Given the description of an element on the screen output the (x, y) to click on. 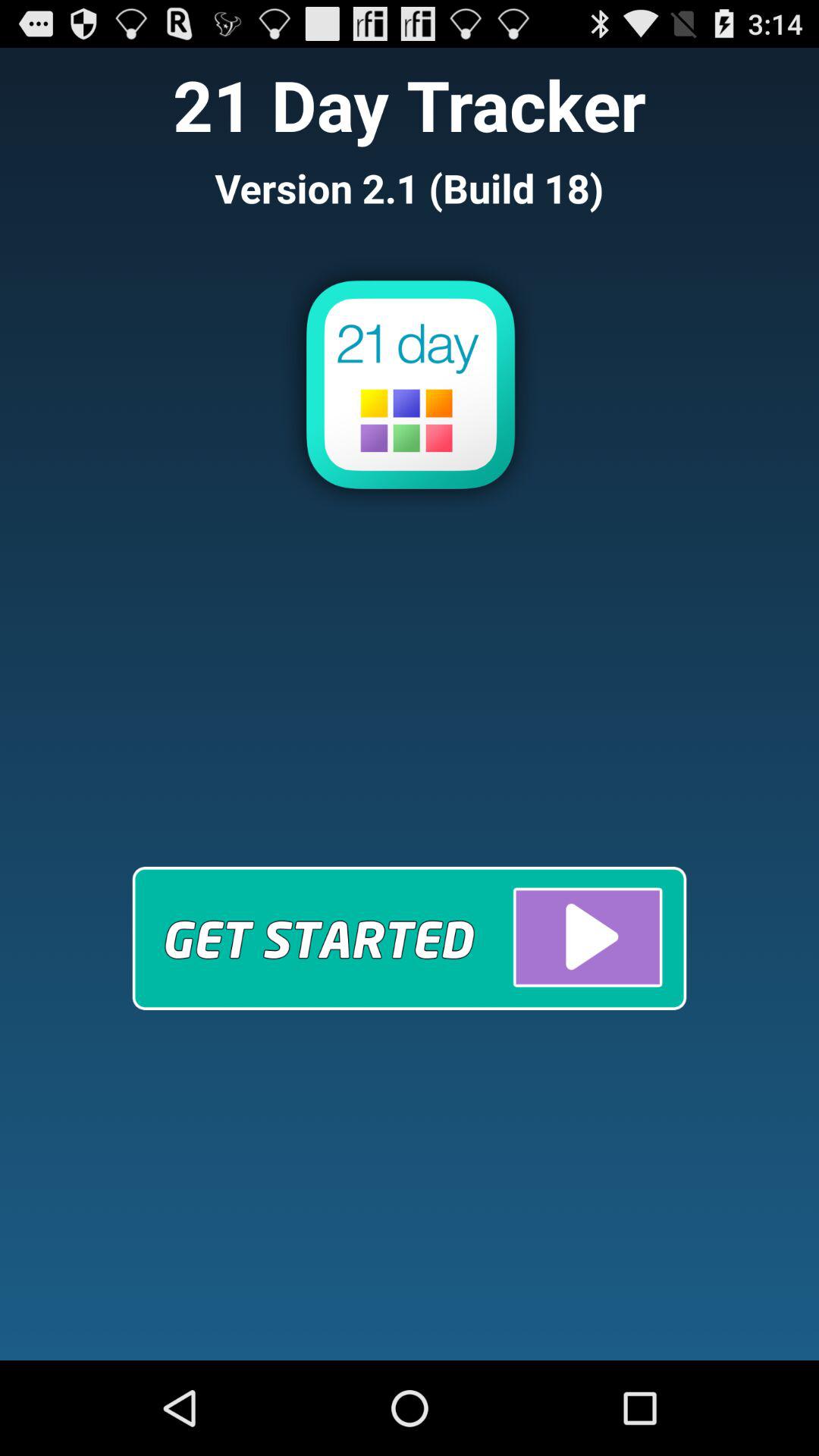
open the icon at the center (409, 937)
